Given the description of an element on the screen output the (x, y) to click on. 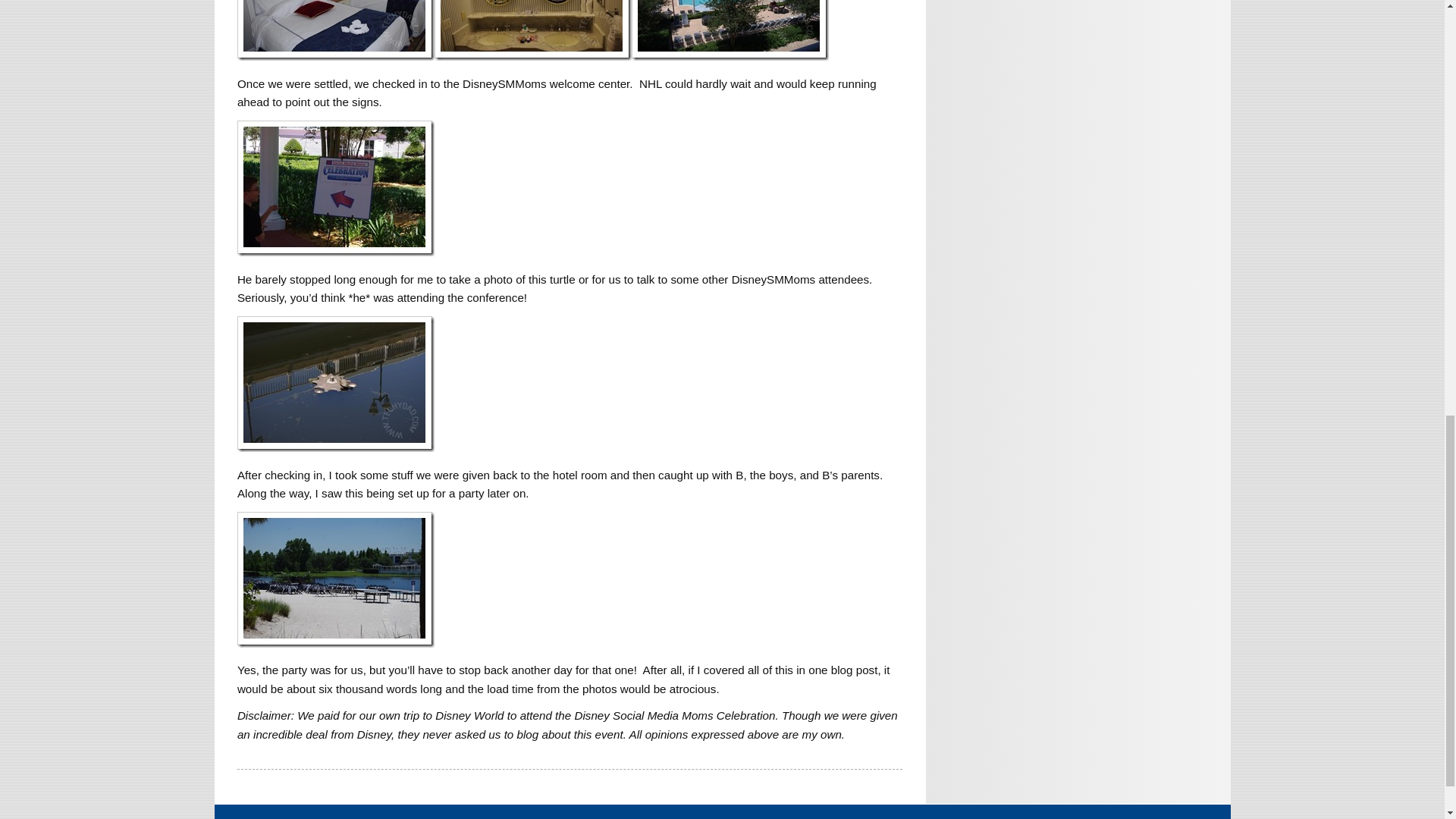
IMGP5792 (335, 188)
IMGP5794 (335, 384)
IMGP5806 (335, 579)
IMGP5781 (532, 30)
IMGP5778 (335, 30)
IMGP5782 (729, 30)
